Given the description of an element on the screen output the (x, y) to click on. 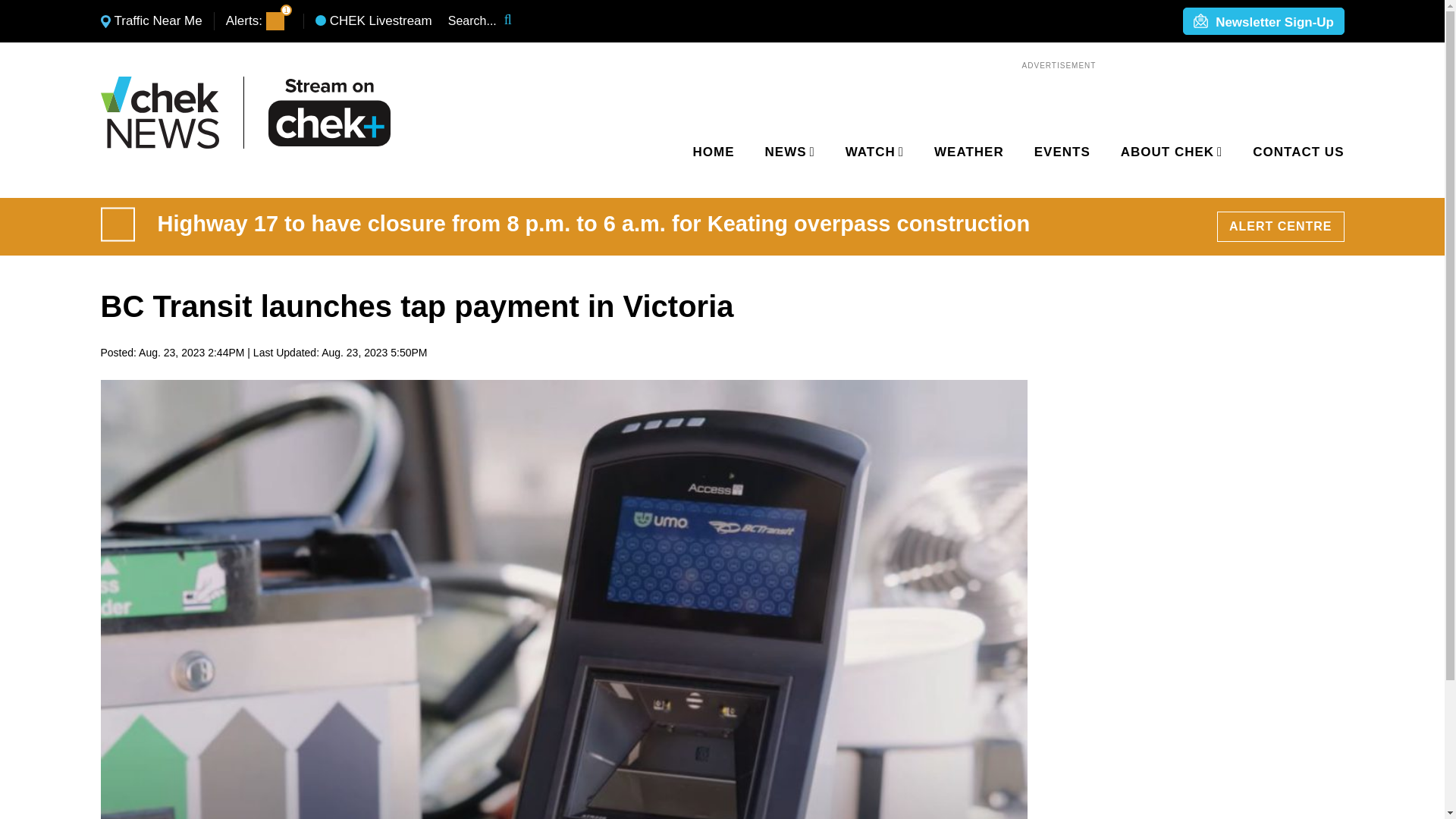
Traffic Near Me (151, 20)
Newsletter Sign-Up (1262, 22)
Search (518, 21)
HOME (714, 152)
CHEK Livestream (373, 20)
1 (274, 21)
NEWS (787, 152)
